Given the description of an element on the screen output the (x, y) to click on. 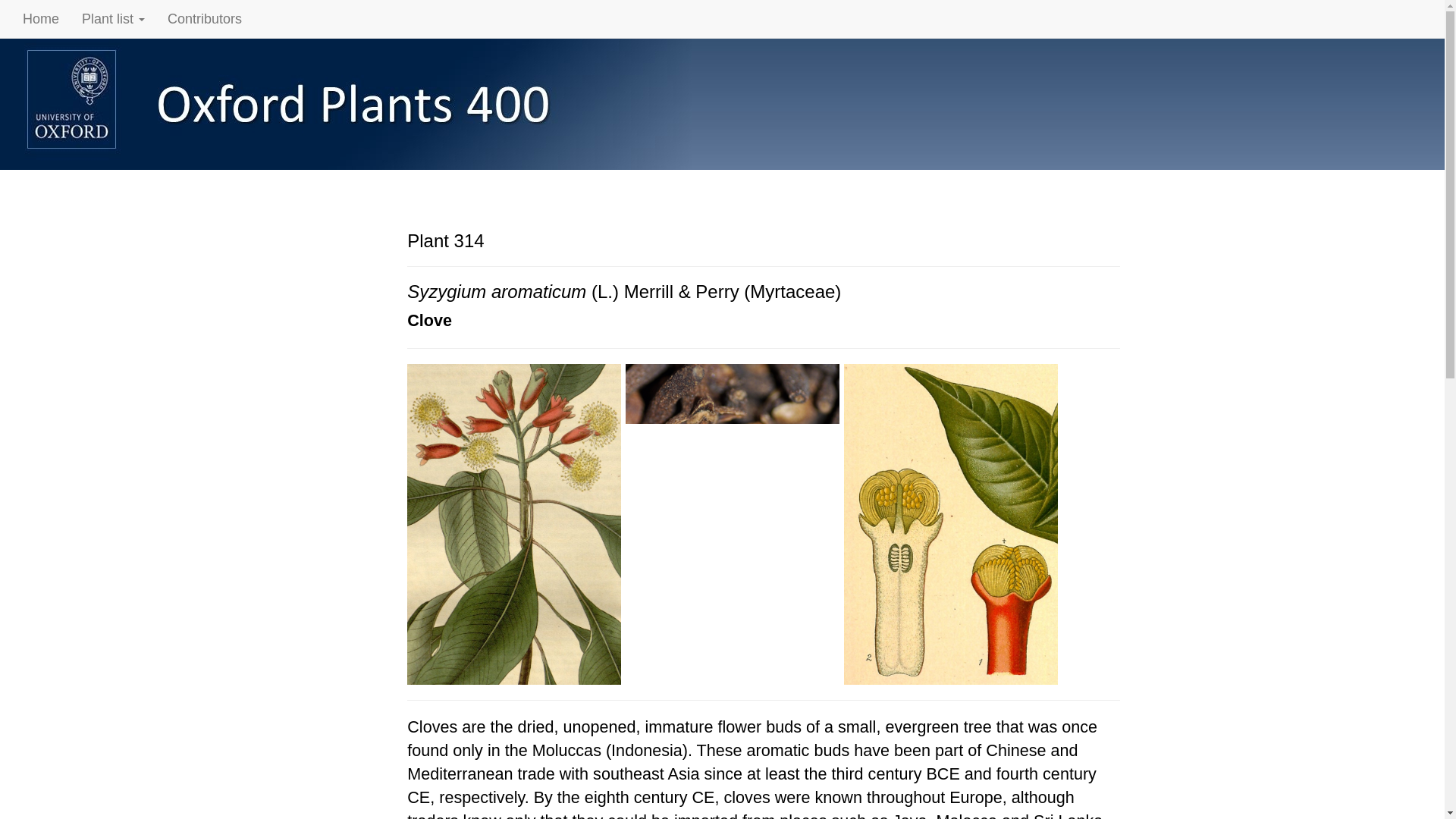
Home (40, 18)
Oxford University Plants 400 (364, 103)
Plant list (112, 18)
